Given the description of an element on the screen output the (x, y) to click on. 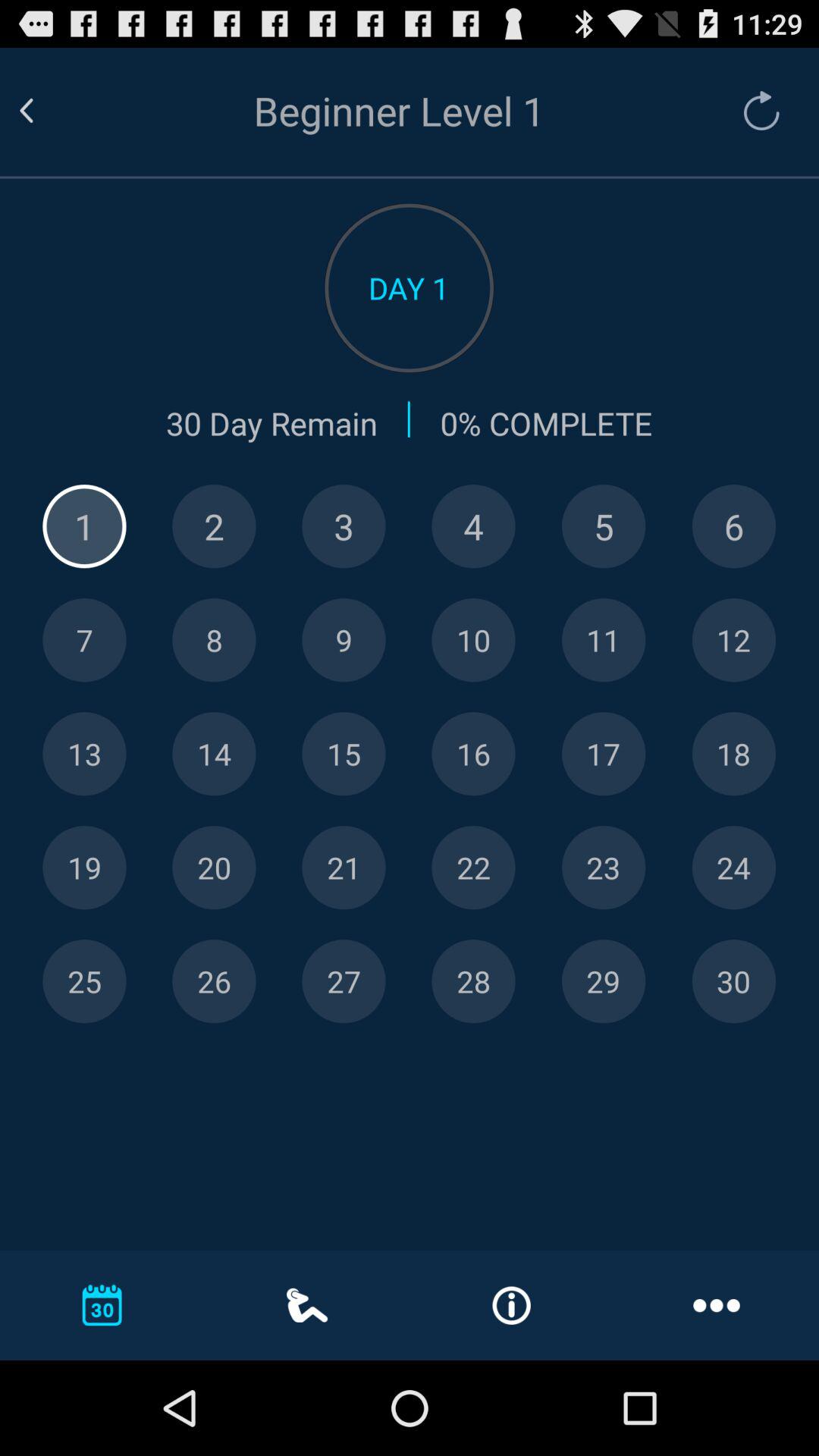
let you look at that specific day (473, 526)
